Given the description of an element on the screen output the (x, y) to click on. 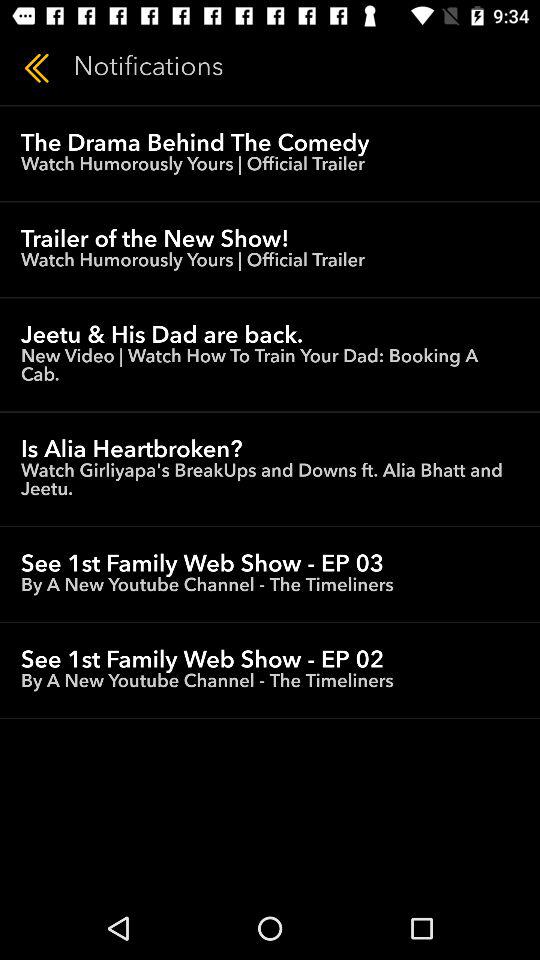
open the item next to the notifications (36, 68)
